Given the description of an element on the screen output the (x, y) to click on. 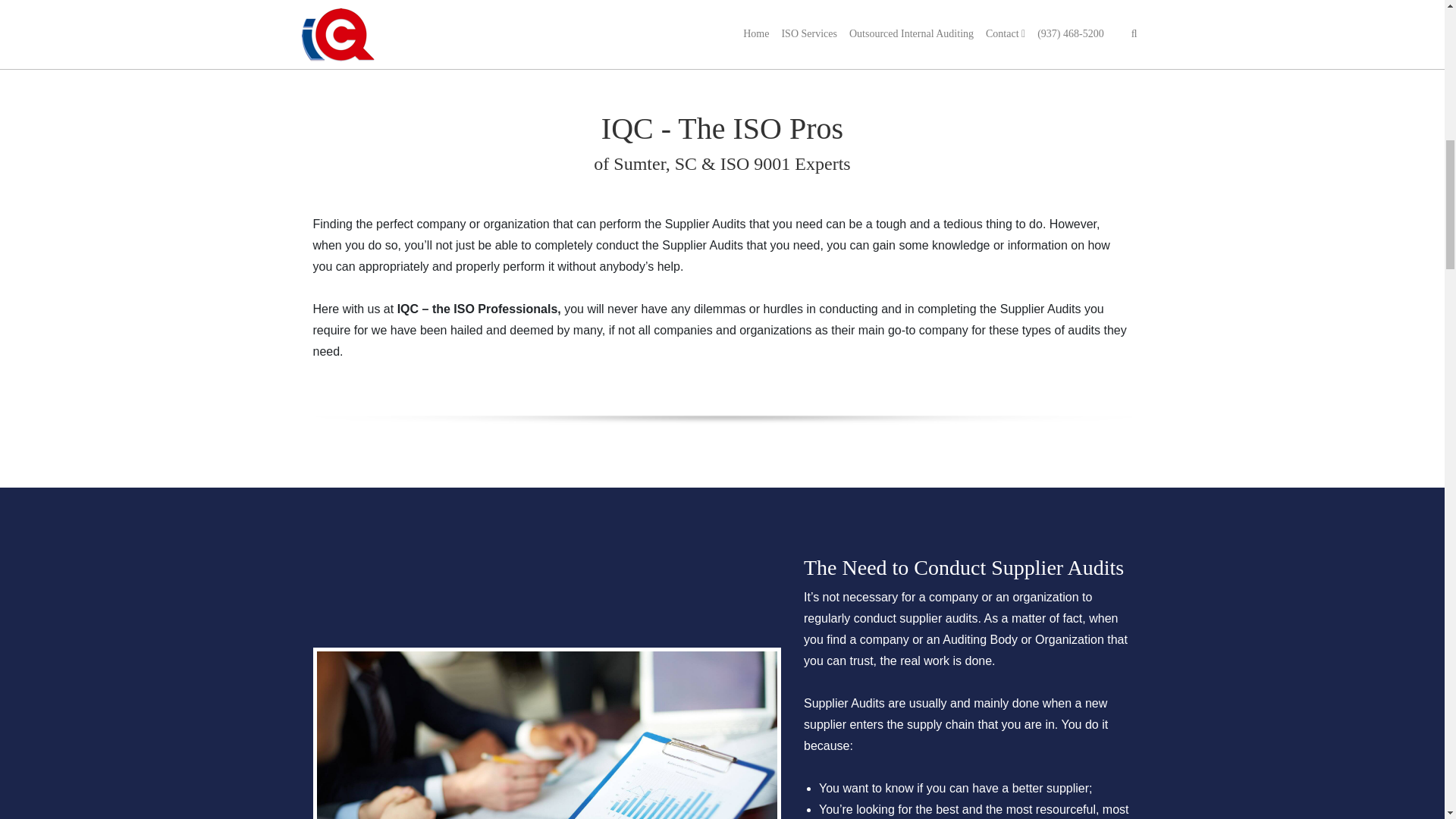
Supplier Audits-IQC ISO9001 (547, 735)
